Given the description of an element on the screen output the (x, y) to click on. 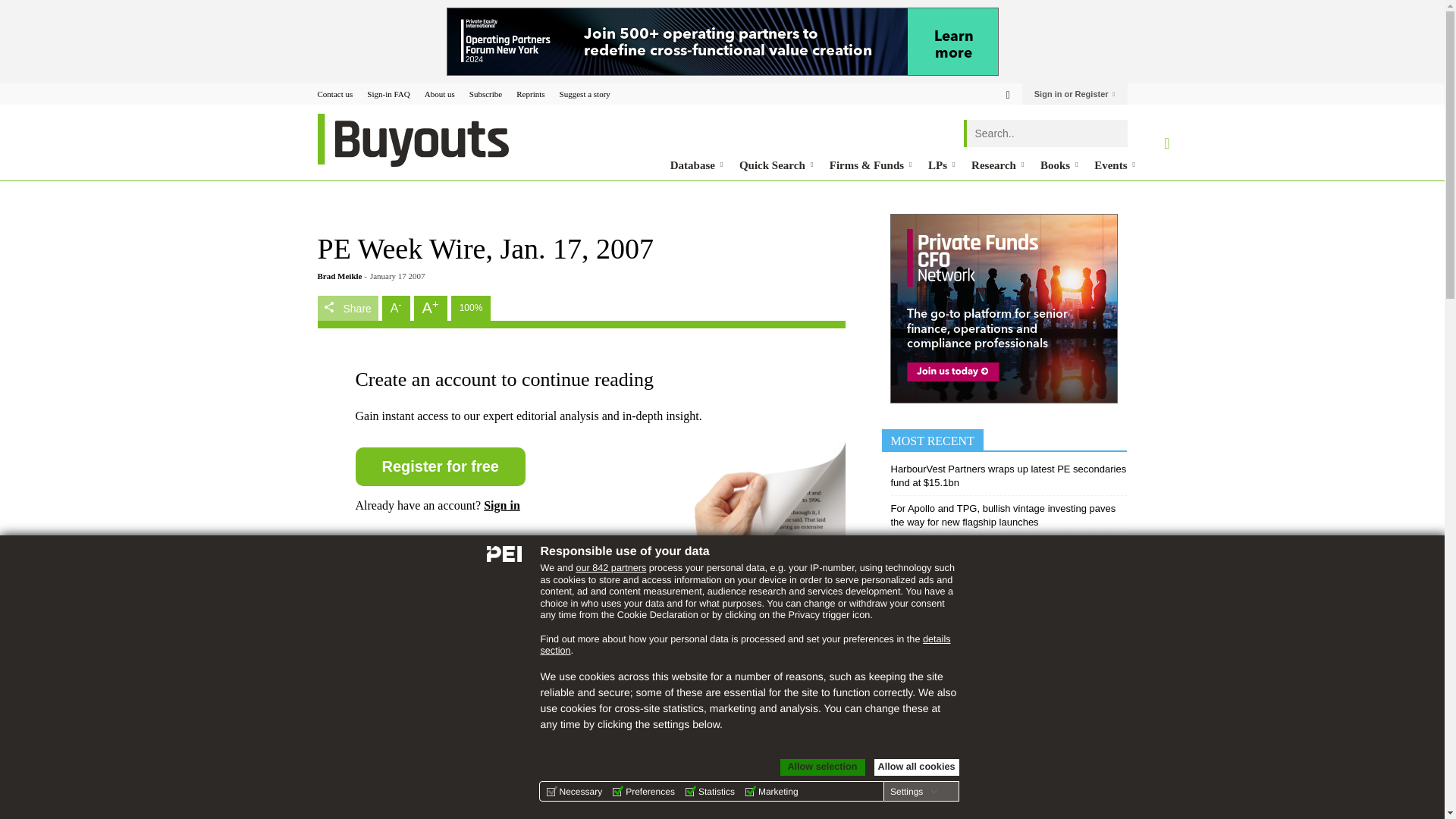
details section (745, 644)
Allow all cookies (915, 767)
Settings (913, 791)
our 842 partners (610, 567)
Allow selection (821, 767)
